Given the description of an element on the screen output the (x, y) to click on. 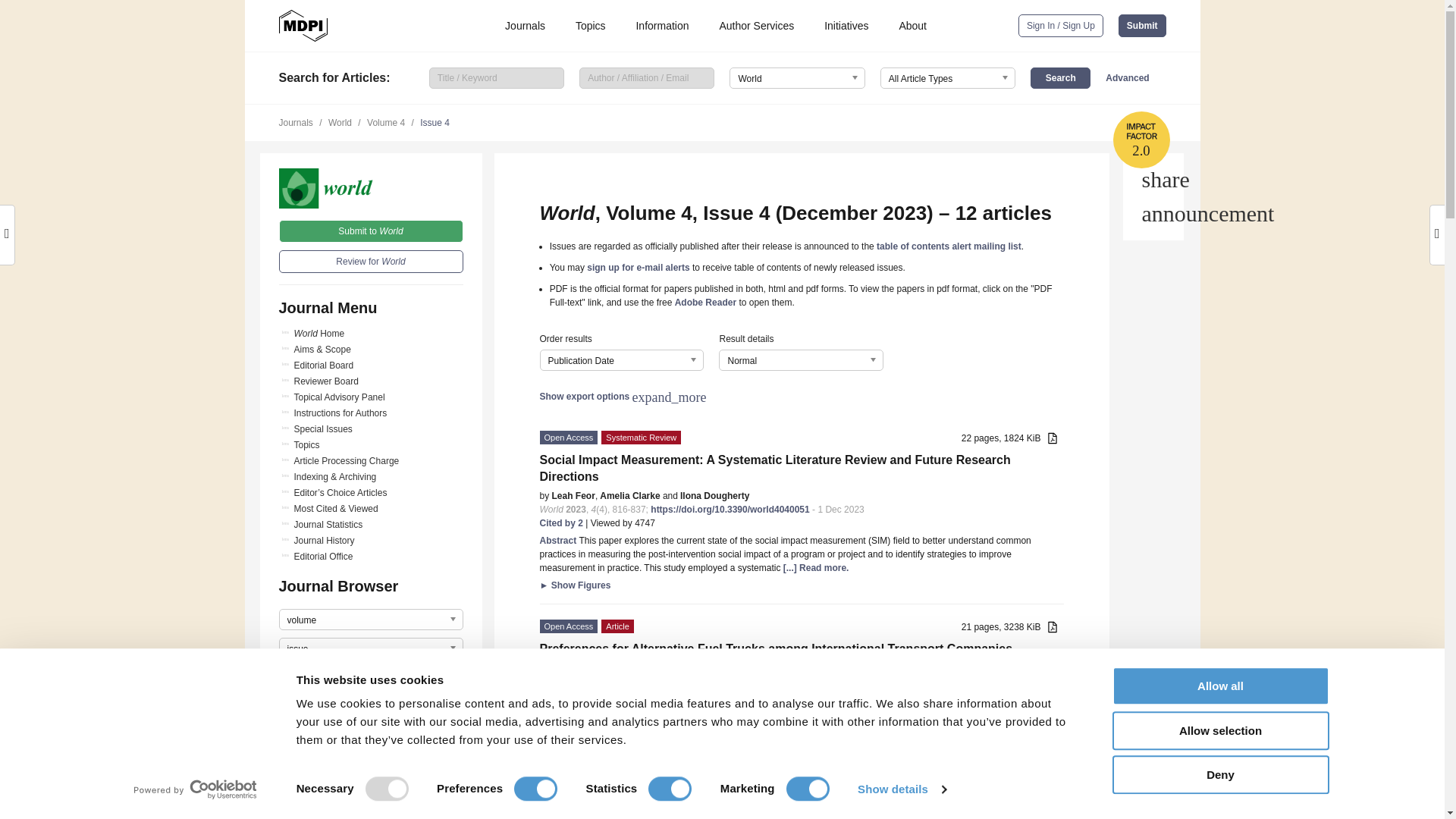
Go (371, 676)
Search (1060, 77)
Search (1060, 77)
Show details (900, 789)
